Given the description of an element on the screen output the (x, y) to click on. 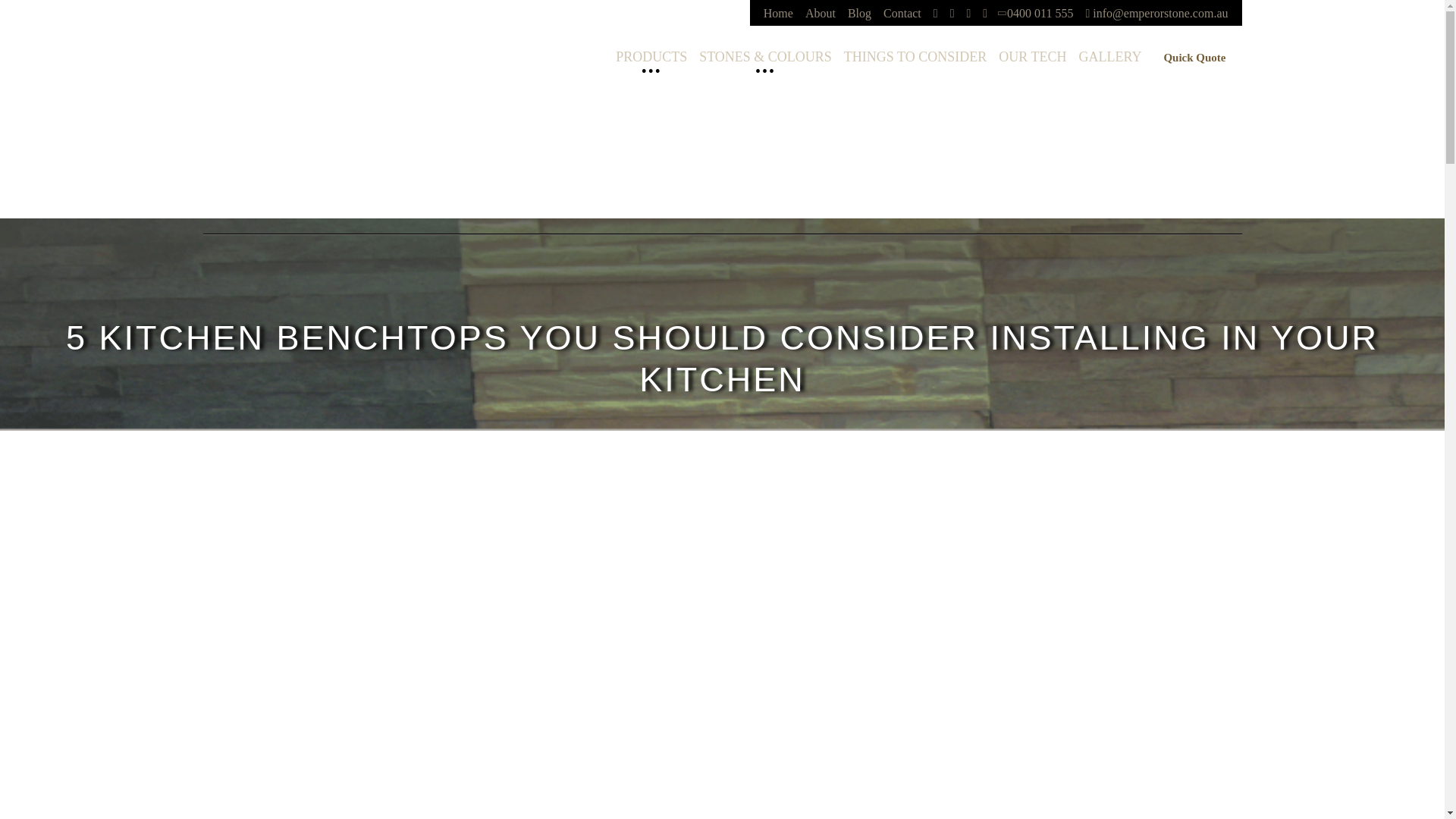
Blog (859, 12)
About (820, 12)
0400 011 555 (1035, 12)
Home (778, 12)
PRODUCTS (651, 56)
Quick Quote (1194, 58)
Contact (902, 12)
OUR TECH (1031, 56)
THINGS TO CONSIDER (915, 56)
GALLERY (1109, 56)
